Given the description of an element on the screen output the (x, y) to click on. 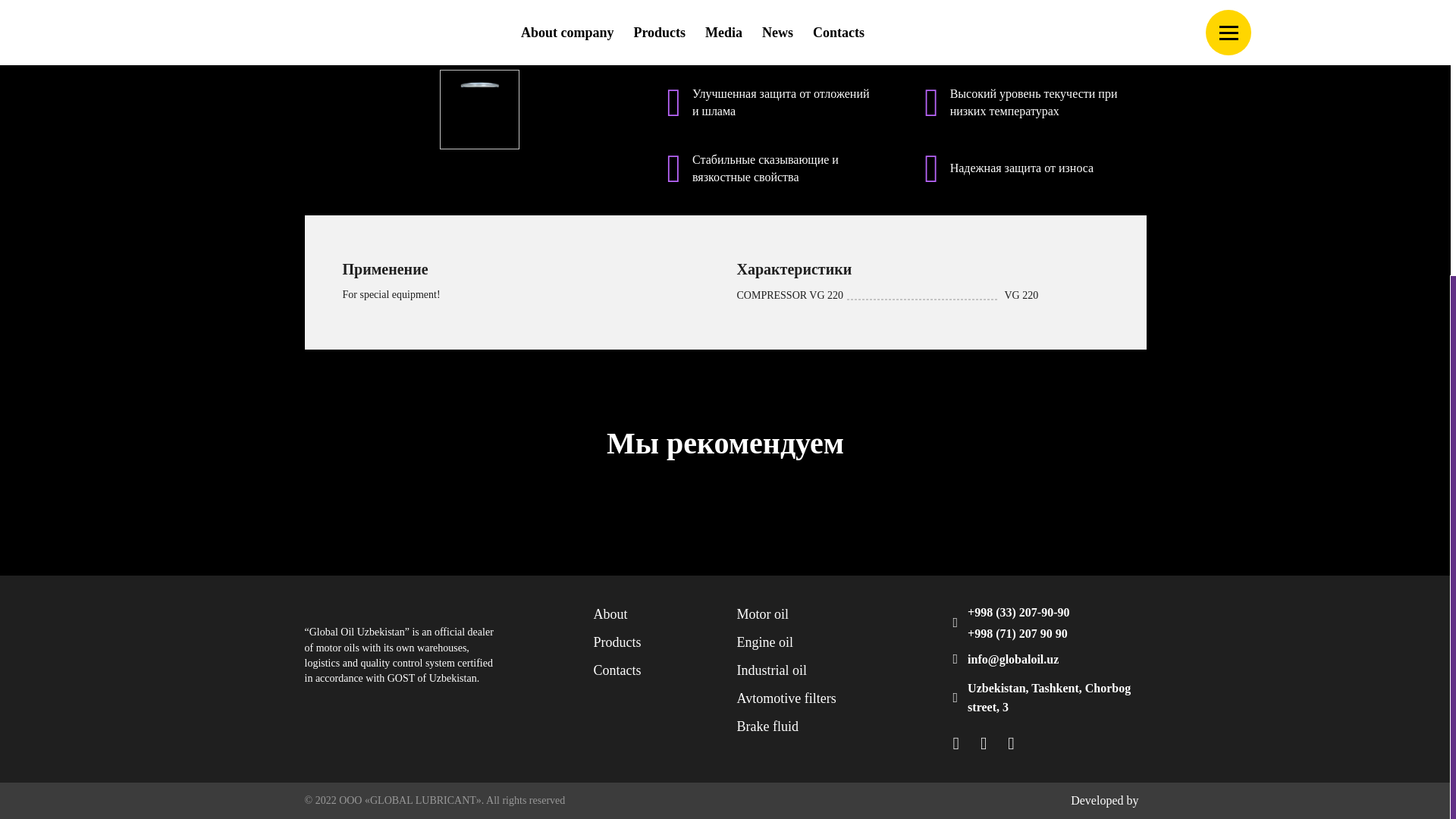
Industrial oil (772, 669)
Brake fluid (766, 726)
Contacts (616, 669)
Engine oil (764, 641)
Products (616, 641)
Avtomotive filters (785, 698)
Motor oil (762, 614)
About (609, 614)
